Given the description of an element on the screen output the (x, y) to click on. 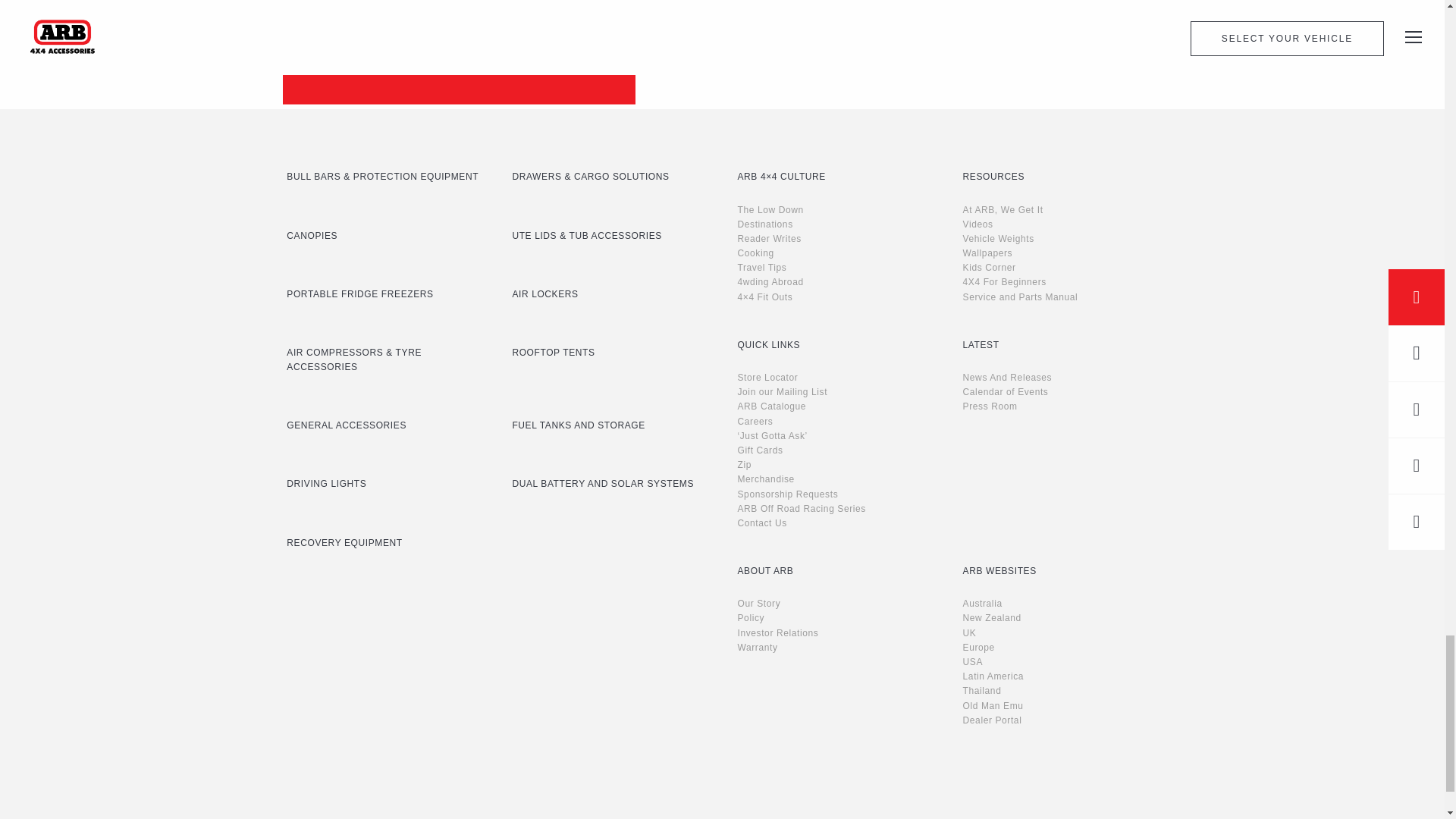
Subscribe (458, 49)
